Given the description of an element on the screen output the (x, y) to click on. 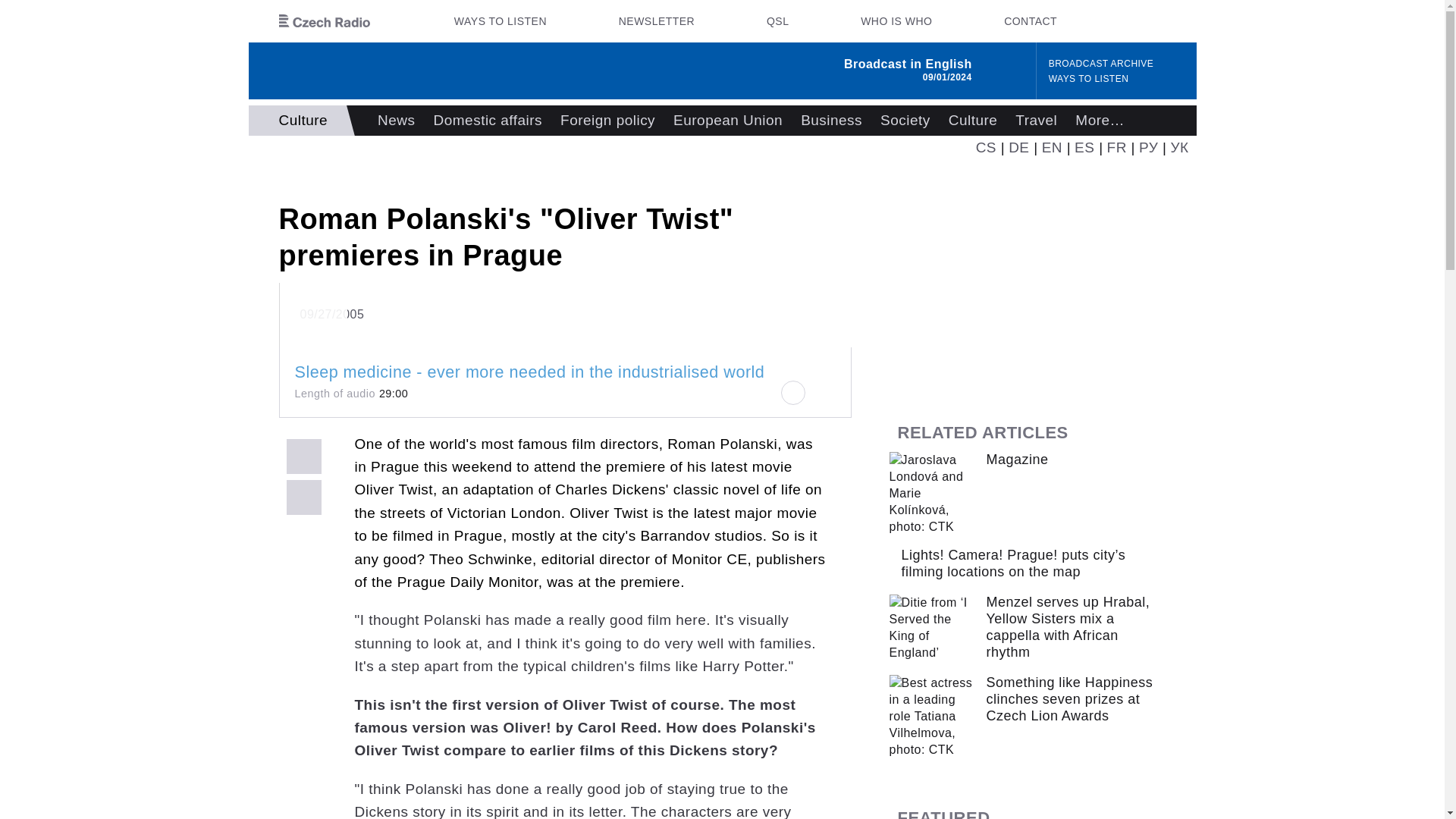
Society (904, 120)
QSL (777, 21)
Business (831, 120)
WHO IS WHO (896, 21)
CONTACT (1029, 21)
EN (1052, 147)
Travel (1035, 120)
News (395, 120)
Foreign policy (607, 120)
DE (1019, 147)
